Given the description of an element on the screen output the (x, y) to click on. 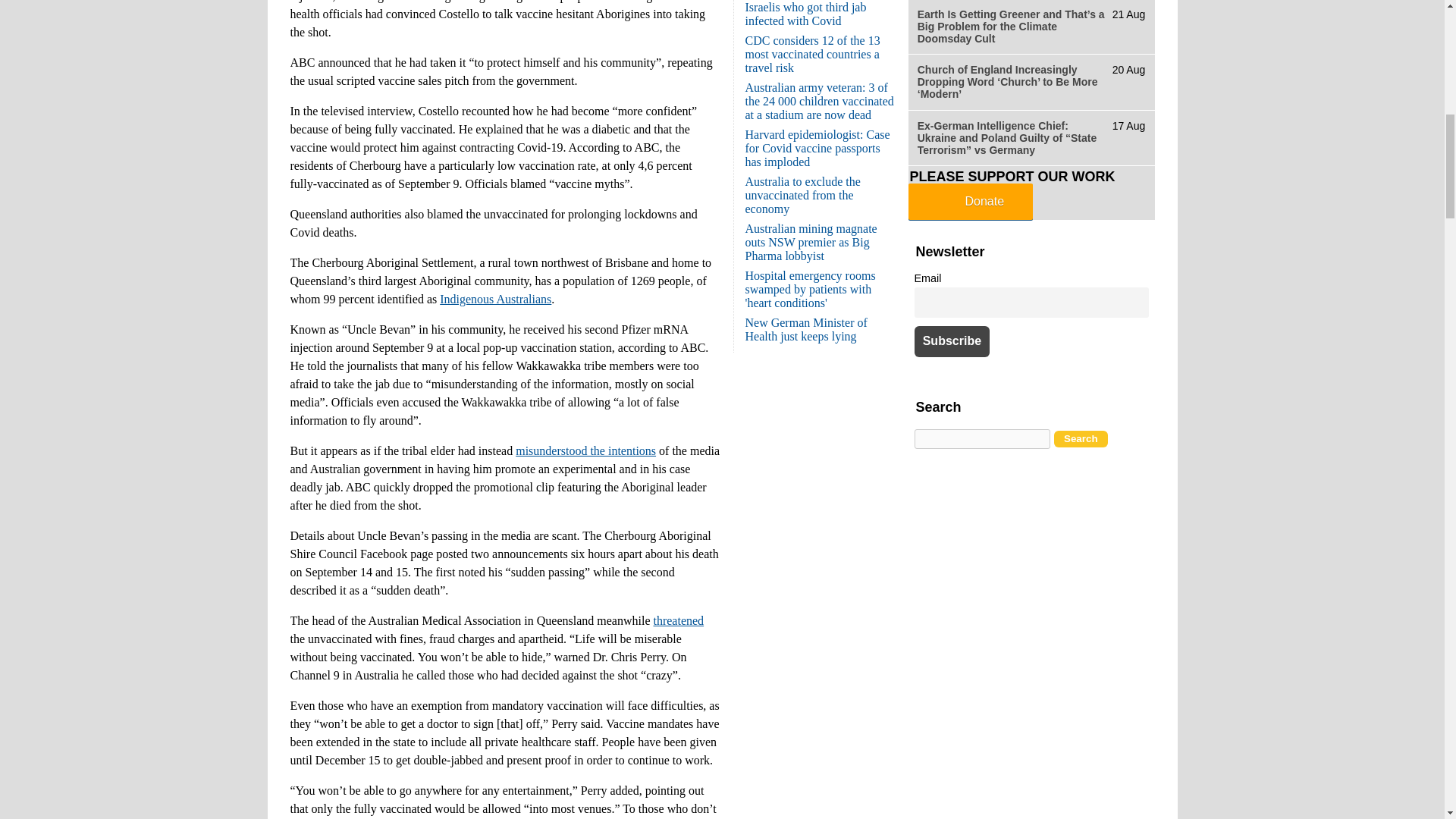
New German Minister of Health just keeps lying (805, 329)
misunderstood the intentions (585, 450)
Indigenous Australians (495, 298)
Israelis who got third jab infected with Covid (805, 13)
threatened (677, 620)
Indigenous Australians (495, 298)
